Given the description of an element on the screen output the (x, y) to click on. 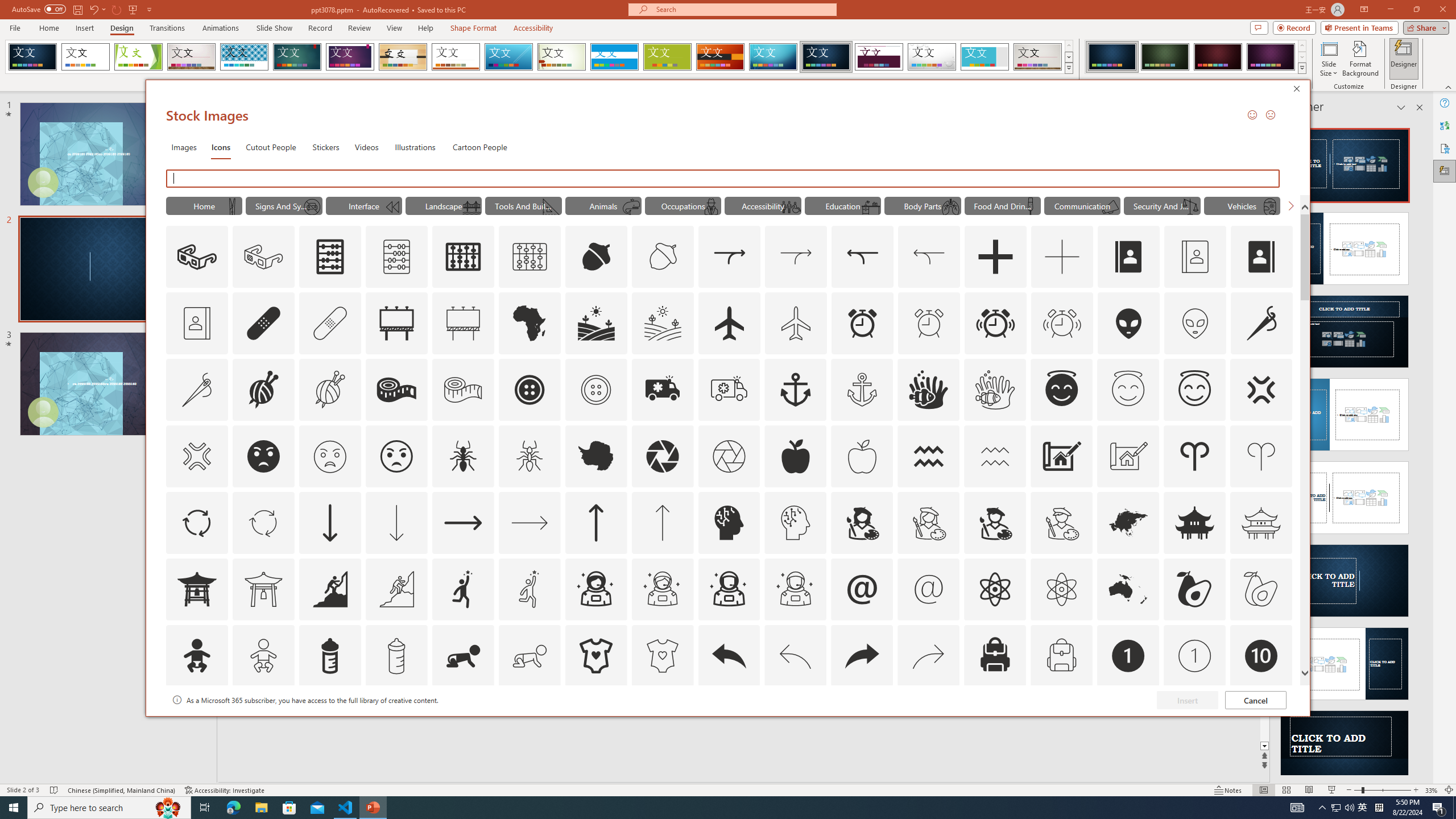
AutomationID: Icons_AlterationsTailoring2_M (462, 389)
outline (1194, 389)
Dividend (879, 56)
AutomationID: Icons_Badge1 (1128, 655)
Circuit (772, 56)
AutomationID: Icons_AlienFace_M (1194, 323)
Gallery (1037, 56)
AutomationID: Icons_Badge6 (795, 721)
Videos (366, 146)
AutomationID: Icons_Backpack (995, 655)
